Given the description of an element on the screen output the (x, y) to click on. 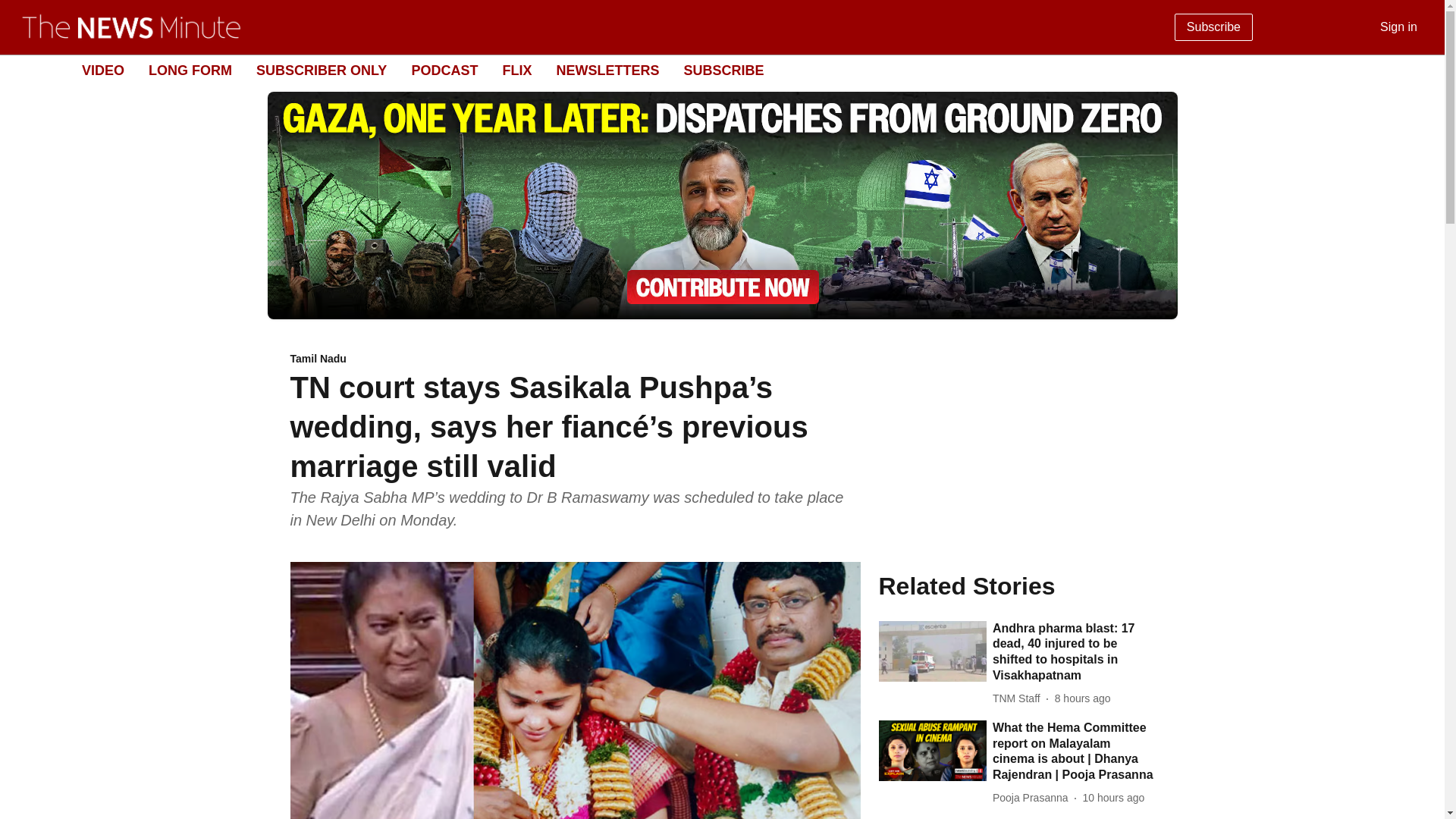
Dark Mode (1415, 70)
2024-08-21 15:53 (1113, 797)
SUBSCRIBE (722, 70)
LONG FORM (189, 70)
TNM Staff (1019, 698)
Tamil Nadu (574, 359)
SUBSCRIBER ONLY (321, 70)
FLIX (516, 70)
Related Stories (1015, 585)
VIDEO (102, 70)
